Given the description of an element on the screen output the (x, y) to click on. 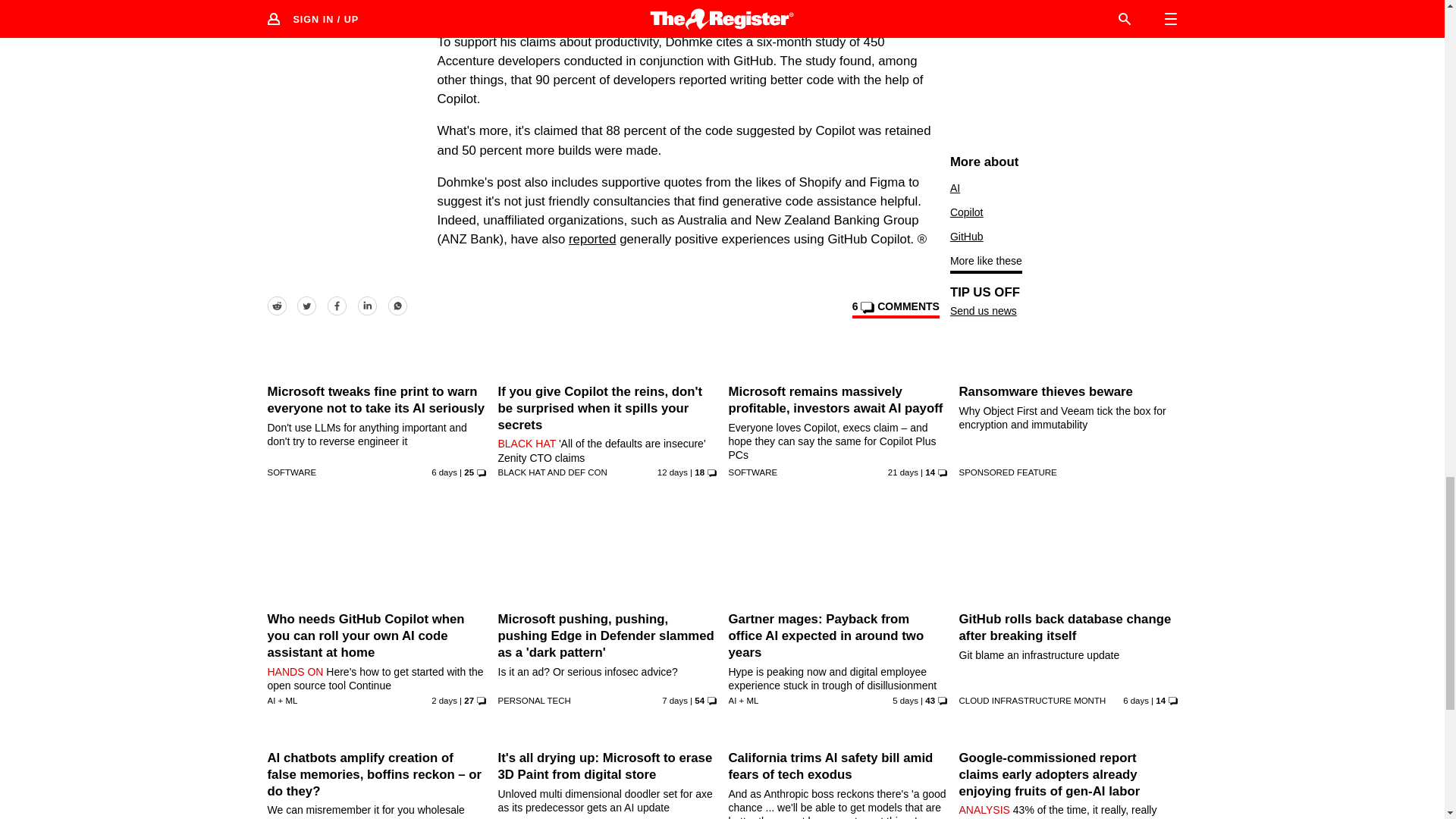
14 Aug 2024 20:28 (443, 471)
31 Jul 2024 5:38 (903, 471)
8 Aug 2024 19:15 (672, 471)
18 Aug 2024 17:37 (443, 700)
14 Aug 2024 7:30 (674, 700)
15 Aug 2024 18:20 (905, 700)
View comments on this article (895, 309)
